Given the description of an element on the screen output the (x, y) to click on. 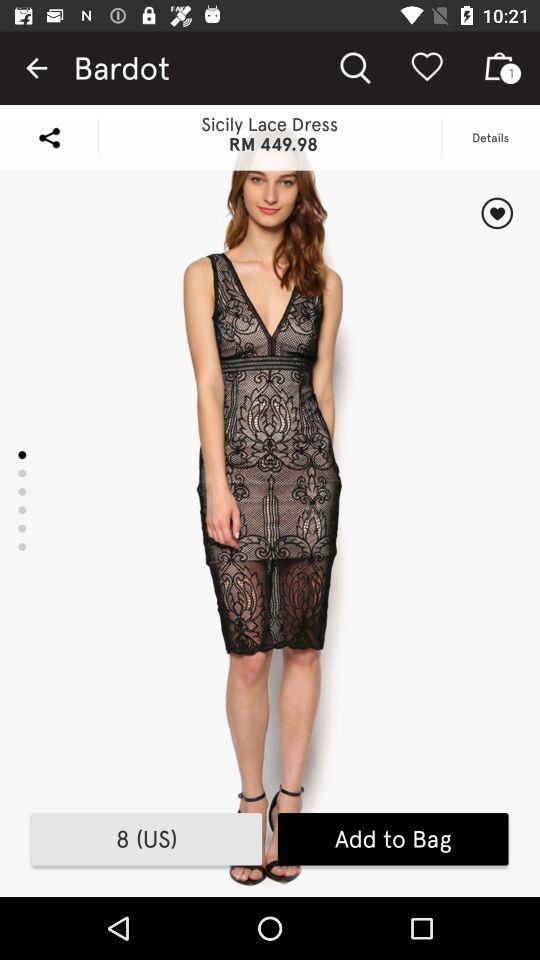
open item to the left of the bardot (36, 68)
